Given the description of an element on the screen output the (x, y) to click on. 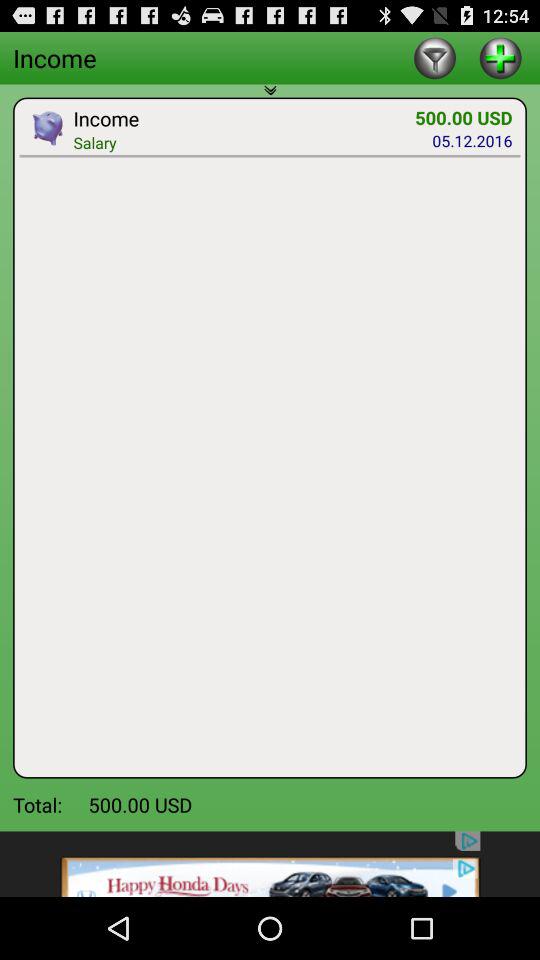
go to add button (500, 57)
